Given the description of an element on the screen output the (x, y) to click on. 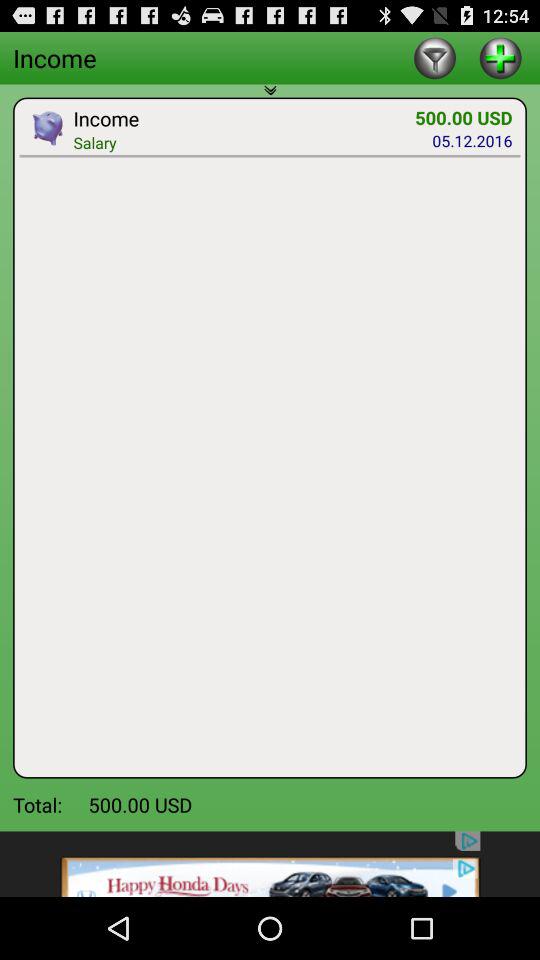
go to add button (500, 57)
